Given the description of an element on the screen output the (x, y) to click on. 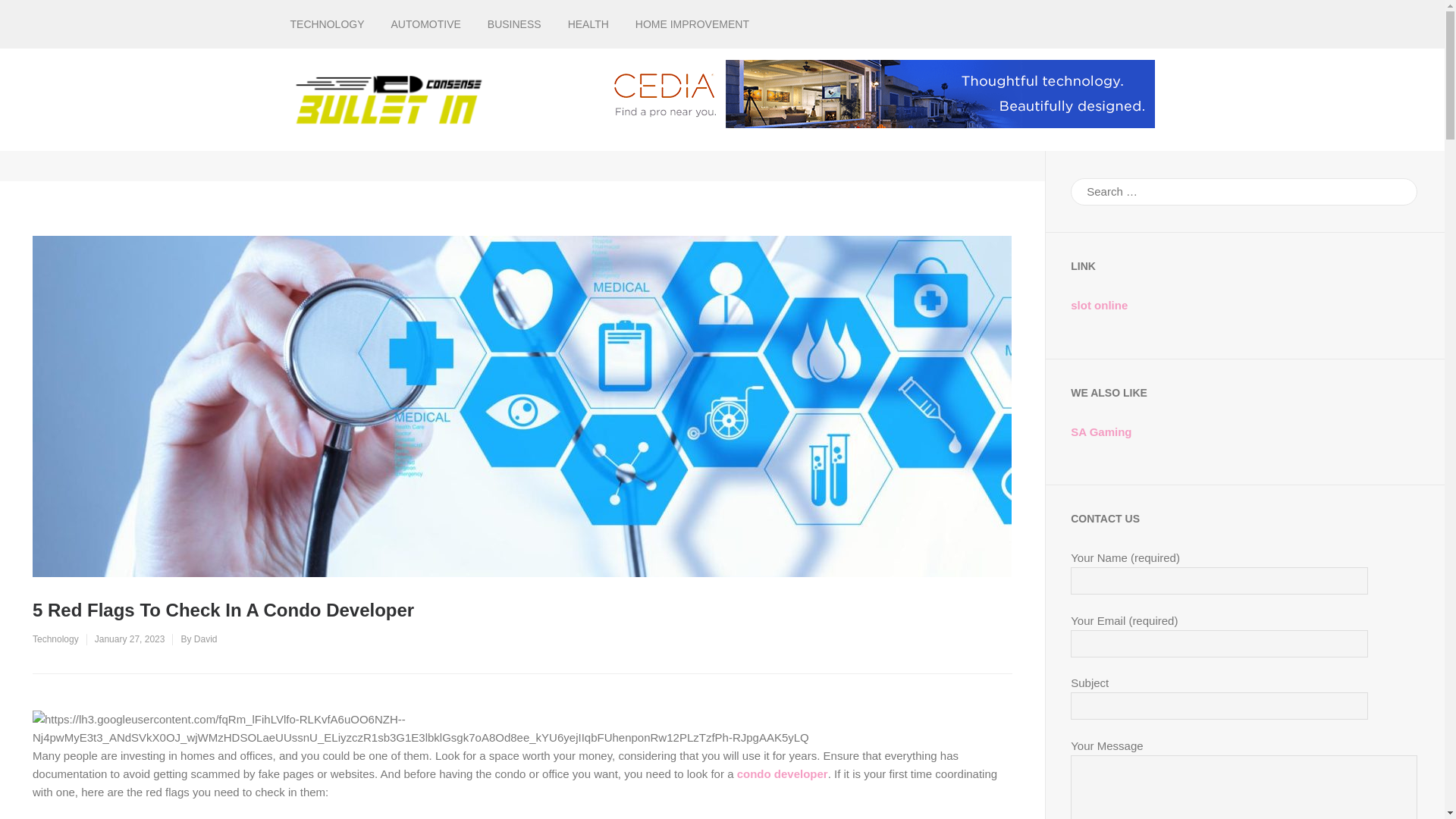
HOME IMPROVEMENT (691, 24)
Search (1395, 191)
condo developer (782, 773)
David (204, 638)
TECHNOLOGY (326, 24)
ConnSense Bulletin (580, 112)
slot online (1098, 305)
AUTOMOTIVE (426, 24)
Search (1395, 191)
January 27, 2023 (129, 638)
